Given the description of an element on the screen output the (x, y) to click on. 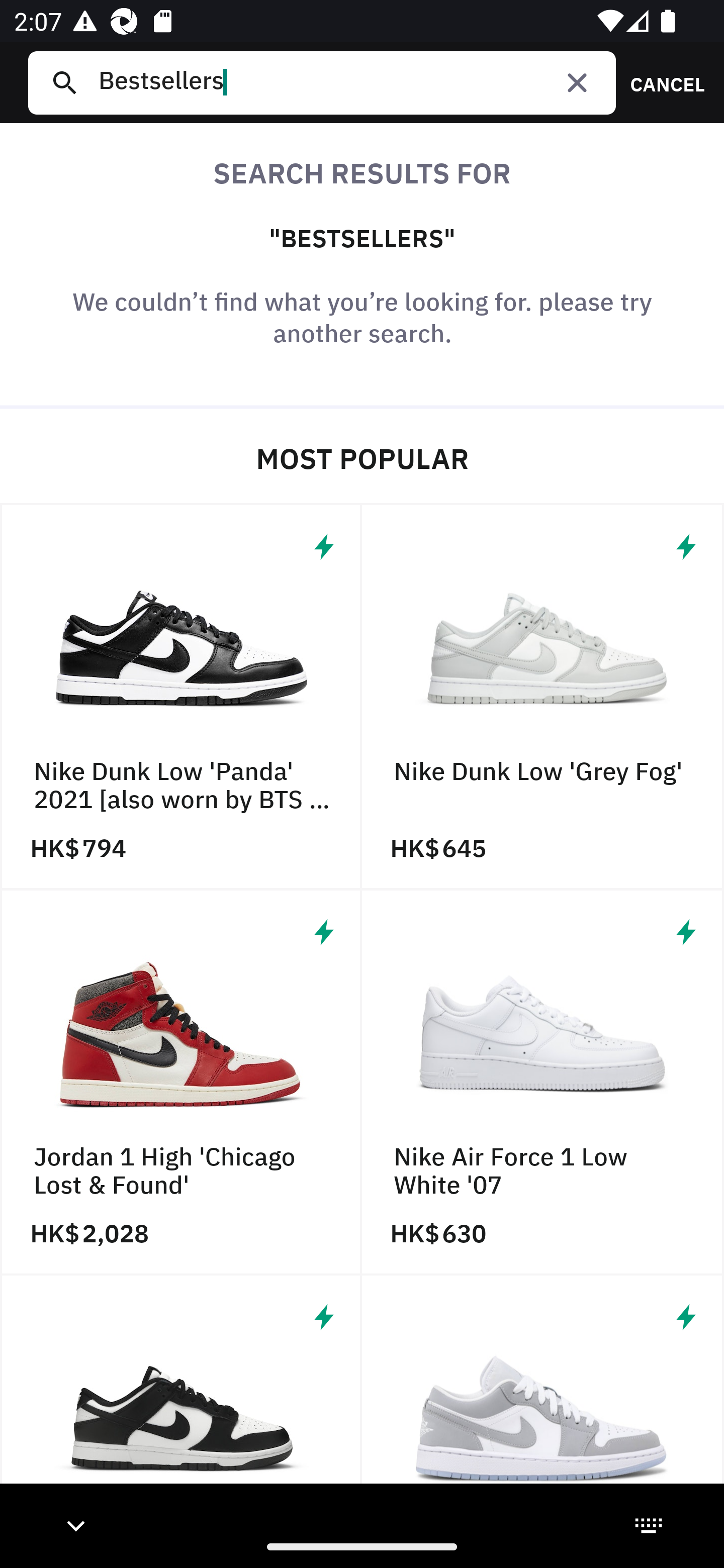
CANCEL (660, 82)
Bestsellers (349, 82)
 (577, 82)
 Nike Dunk Low 'Grey Fog' HK$ 645 (543, 697)
 Jordan 1 High 'Chicago Lost & Found' HK$ 2,028 (181, 1082)
 Nike Air Force 1 Low White '07 HK$ 630 (543, 1082)
 (181, 1399)
 (543, 1399)
